Given the description of an element on the screen output the (x, y) to click on. 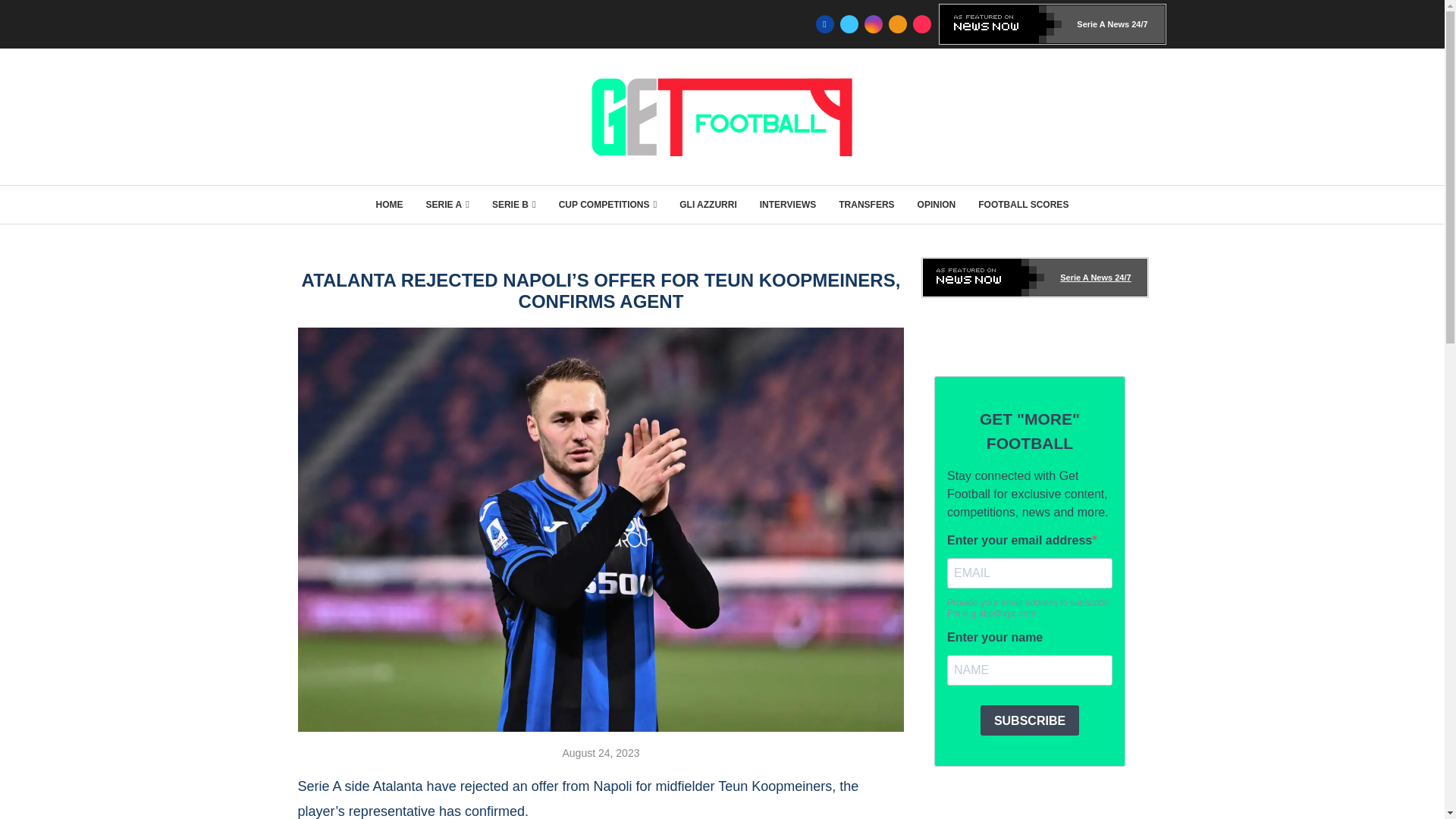
Click here for more Italian football news from NewsNow (1034, 277)
HOME (389, 204)
SERIE B (513, 204)
SERIE A (447, 204)
Click here for more Italian football news from NewsNow (1052, 24)
